Given the description of an element on the screen output the (x, y) to click on. 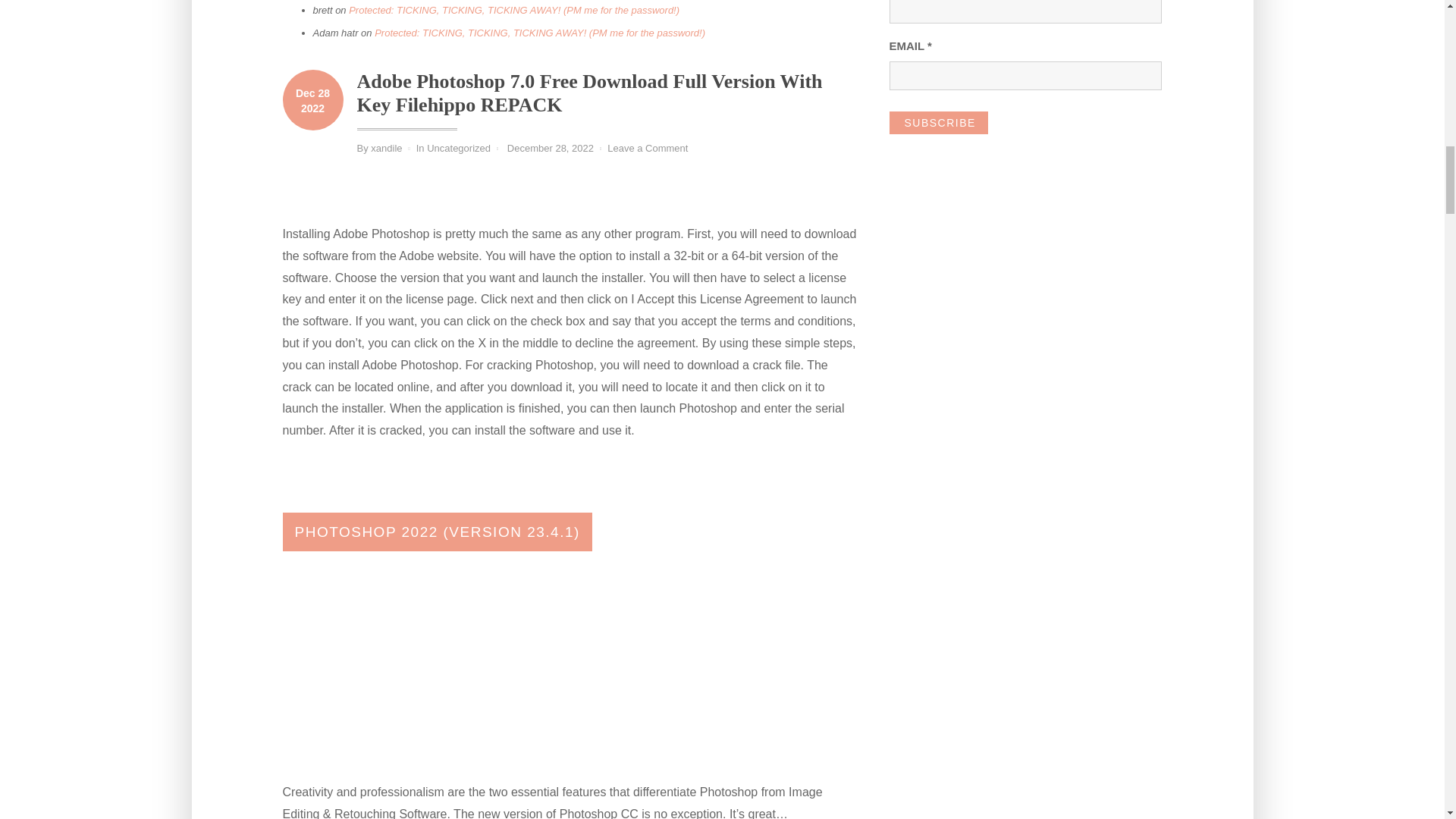
Subscribe (937, 122)
Uncategorized (458, 147)
December 28, 2022 (550, 147)
xandile (386, 147)
